Given the description of an element on the screen output the (x, y) to click on. 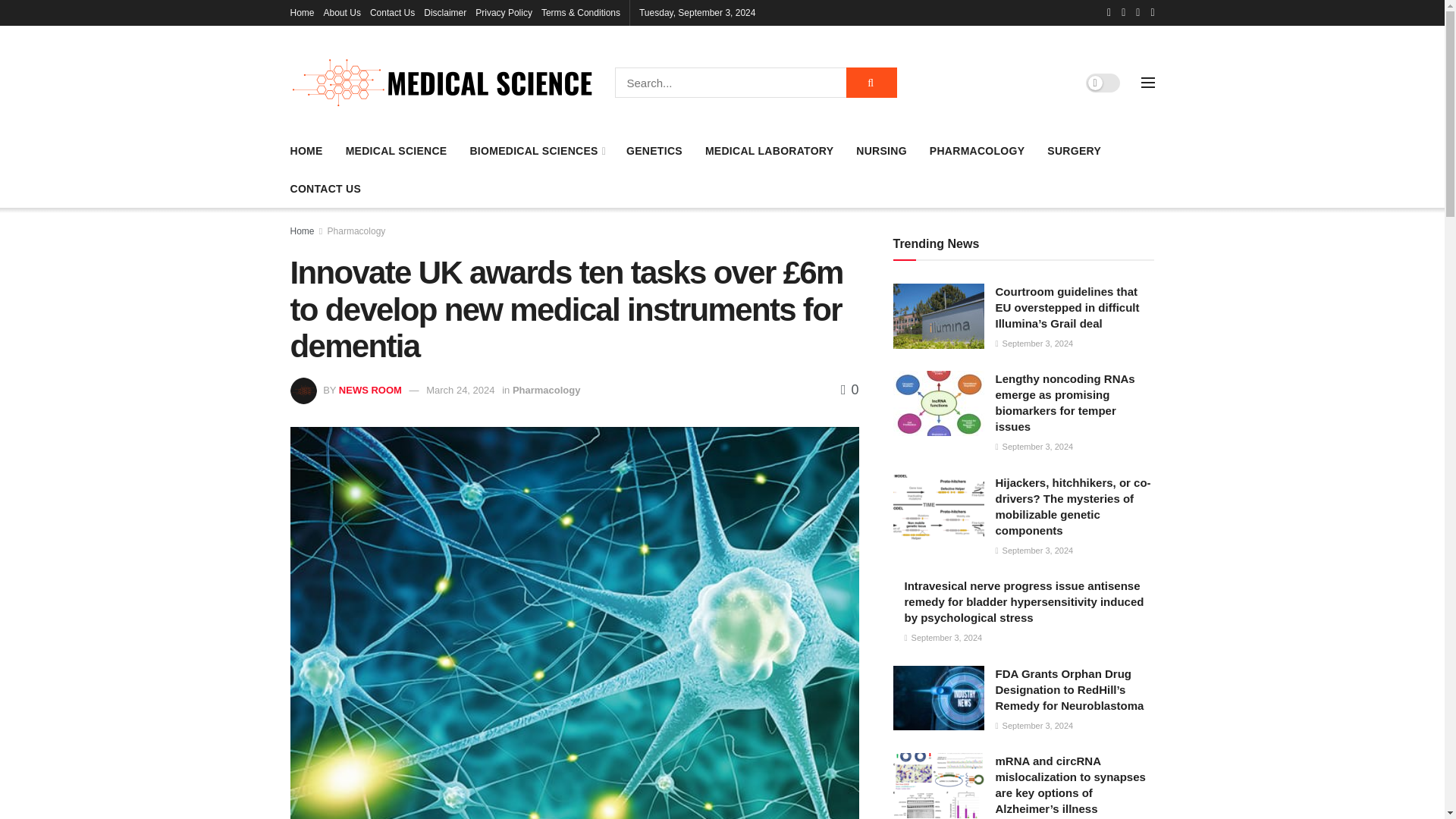
About Us (342, 12)
CONTACT US (325, 188)
MEDICAL SCIENCE (396, 150)
HOME (305, 150)
Contact Us (391, 12)
Disclaimer (444, 12)
GENETICS (654, 150)
PHARMACOLOGY (977, 150)
NURSING (881, 150)
Home (301, 12)
